Given the description of an element on the screen output the (x, y) to click on. 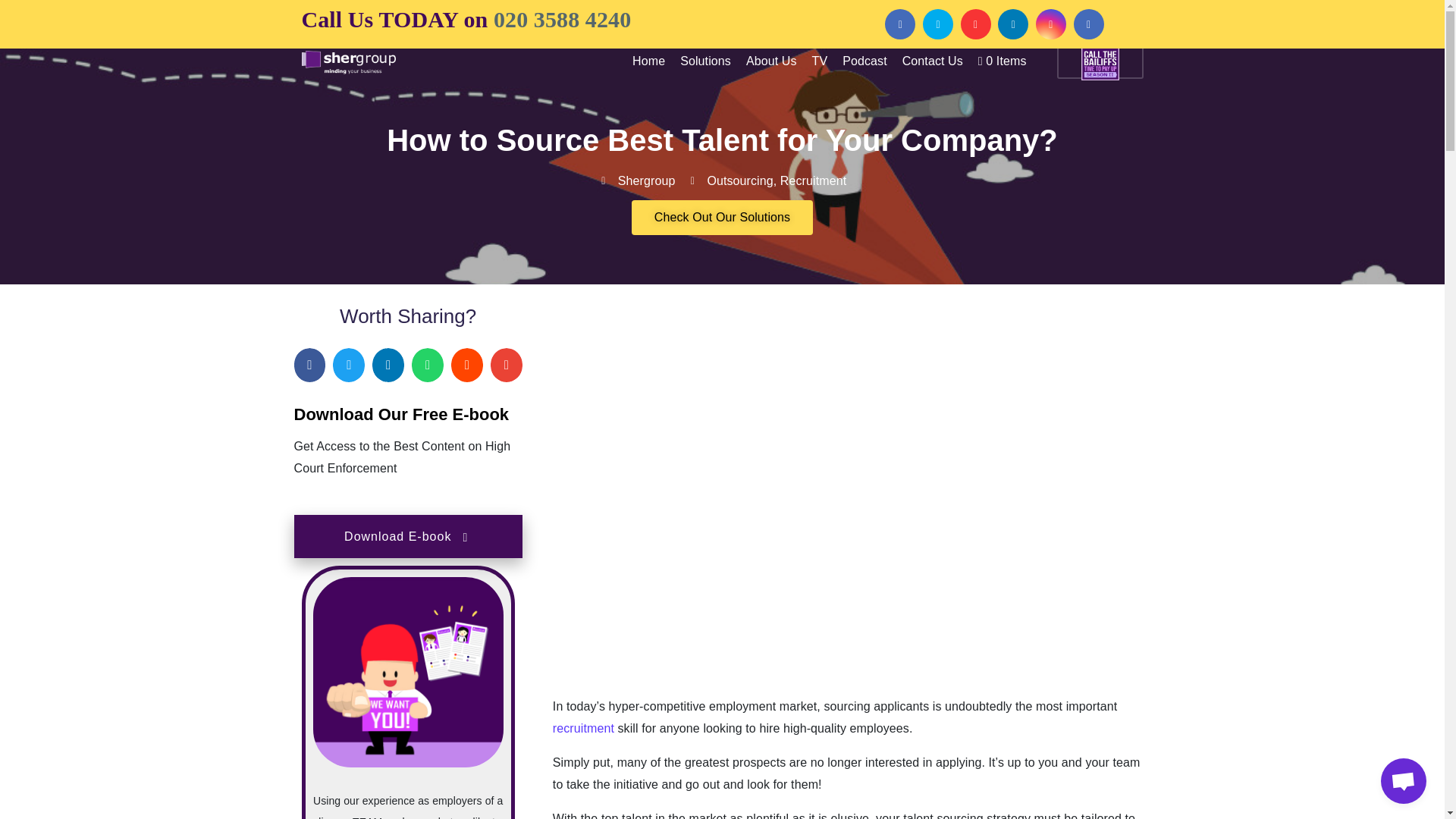
020 3588 4240 (561, 18)
